Given the description of an element on the screen output the (x, y) to click on. 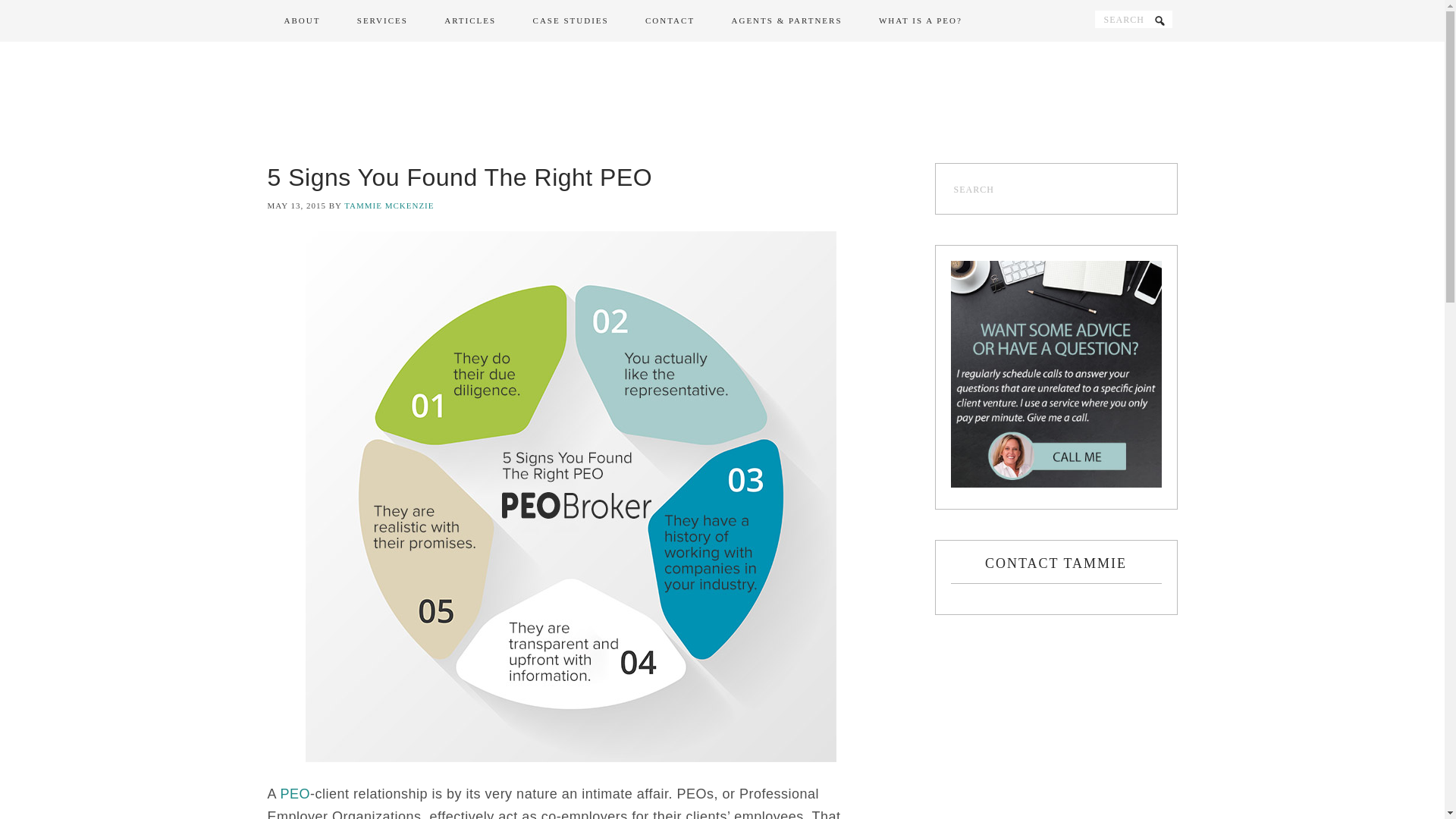
PEO (296, 793)
WHAT IS A PEO? (919, 20)
CASE STUDIES (571, 20)
ARTICLES (470, 20)
TAMMIE MCKENZIE (388, 204)
PEO: The Small Business Growth Weapon (296, 793)
ABOUT (301, 20)
PEO Broker (721, 102)
